Given the description of an element on the screen output the (x, y) to click on. 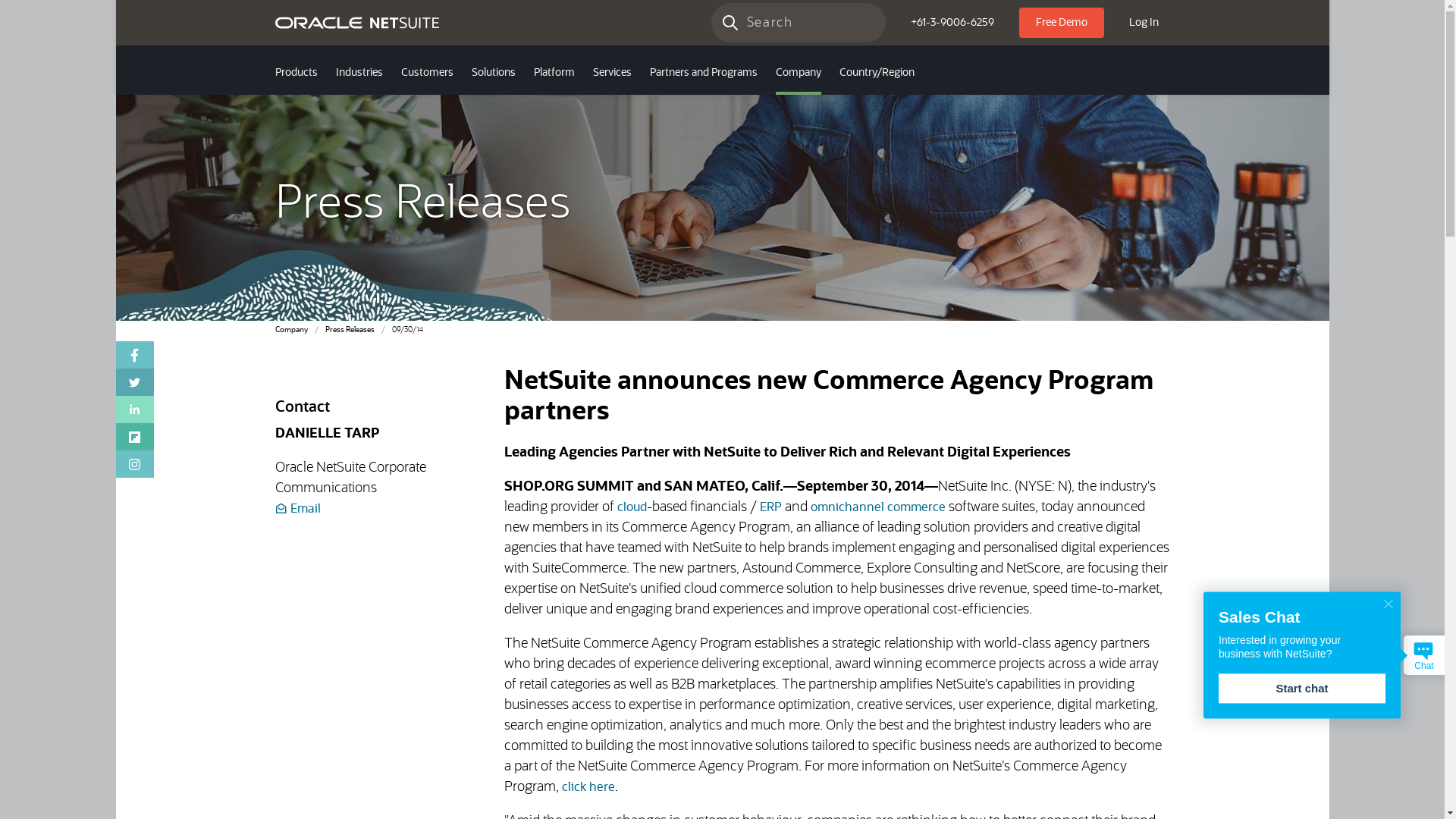
Share to Flipboard Element type: hover (134, 436)
Platform Element type: text (553, 73)
Services Element type: text (612, 73)
omnichannel commerce Element type: text (877, 507)
ERP Element type: text (770, 507)
+61-3-9006-6259 Element type: text (952, 22)
Products Element type: text (295, 73)
Industries Element type: text (358, 73)
Solutions Element type: text (493, 73)
click here Element type: text (588, 787)
Share to Facebook Element type: hover (134, 354)
Share to LinkedIn Element type: hover (134, 409)
Chat Element type: text (1423, 654)
Log In Element type: text (1143, 22)
(opens in a new tab) Element type: text (134, 463)
Free Demo Element type: text (1061, 22)
Company Element type: text (290, 329)
Customers Element type: text (426, 73)
Email Element type: text (297, 508)
cloud Element type: text (631, 507)
Share to Twitter Element type: hover (134, 381)
Partners and Programs Element type: text (702, 73)
Press Releases Element type: text (348, 329)
Country/Region Element type: text (875, 73)
Start chat Element type: text (1301, 688)
Company Element type: text (797, 73)
